Given the description of an element on the screen output the (x, y) to click on. 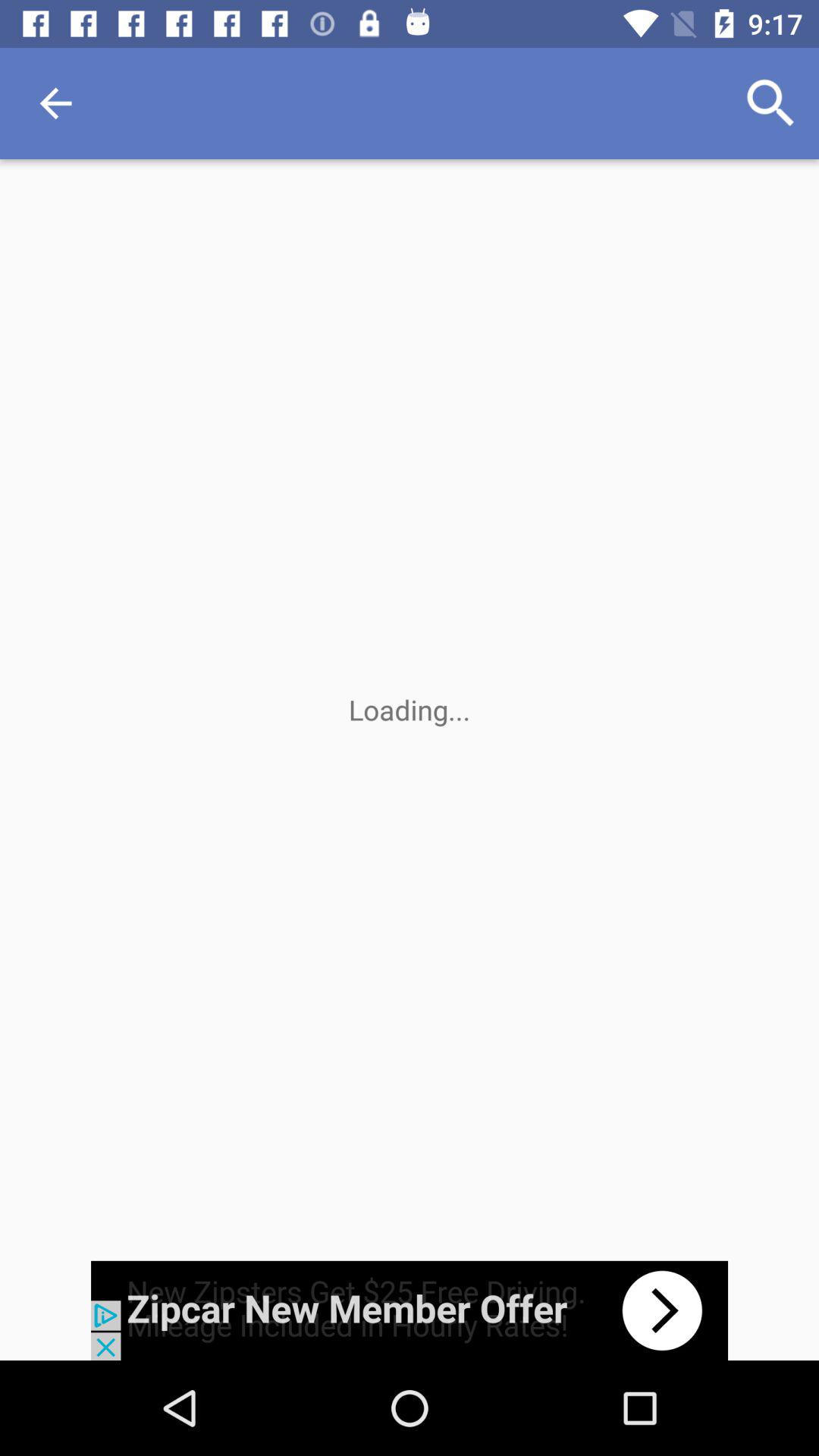
opens advertisement (409, 1310)
